Given the description of an element on the screen output the (x, y) to click on. 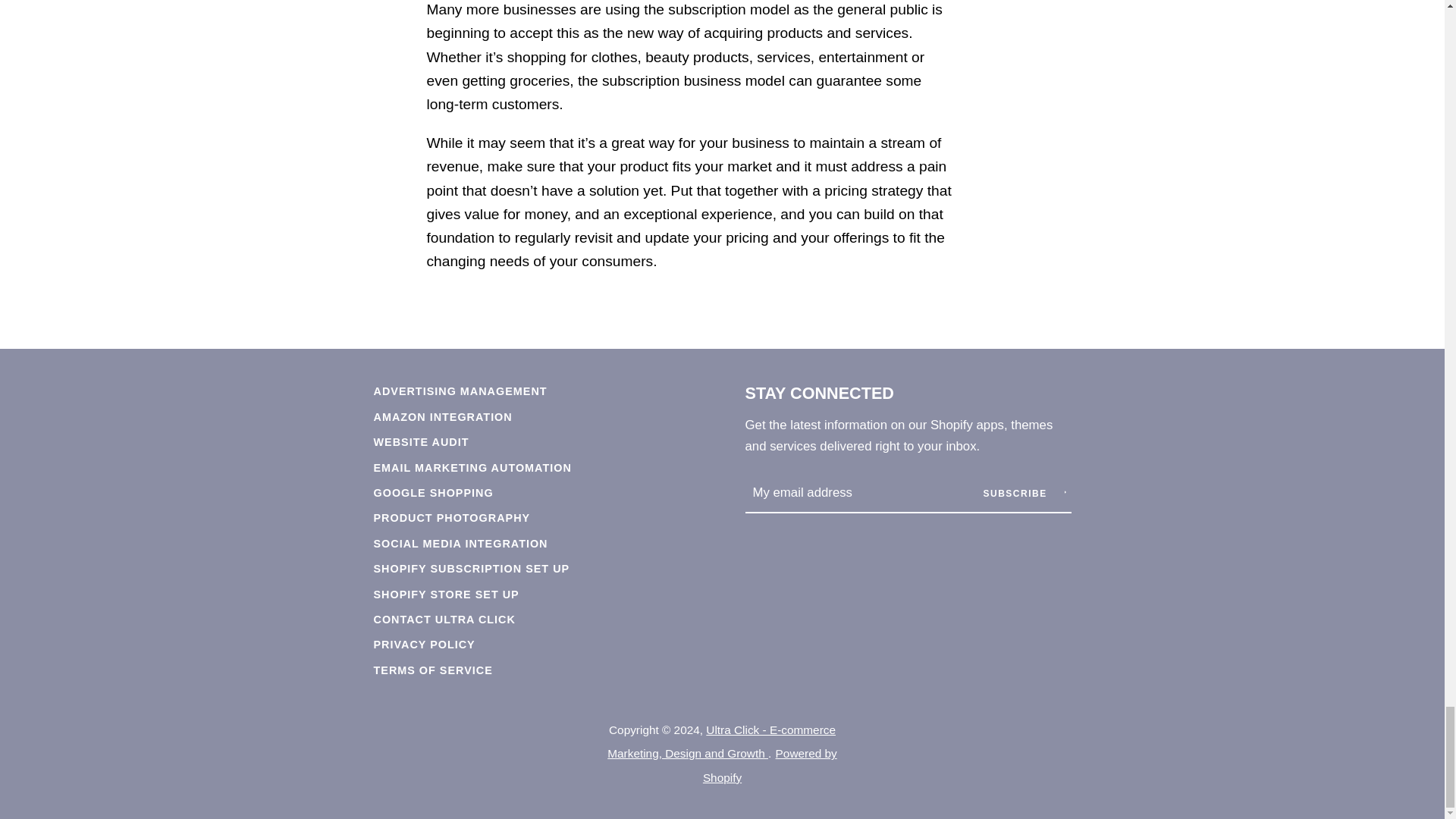
CONTACT ULTRA CLICK (443, 619)
SUBSCRIBE (1023, 493)
GOOGLE SHOPPING (432, 492)
PRODUCT PHOTOGRAPHY (450, 517)
EMAIL MARKETING AUTOMATION (471, 467)
Powered by Shopify (770, 764)
SHOPIFY STORE SET UP (445, 594)
PRIVACY POLICY (423, 644)
SOCIAL MEDIA INTEGRATION (459, 543)
AMAZON INTEGRATION (442, 417)
ADVERTISING MANAGEMENT (459, 390)
SHOPIFY SUBSCRIPTION SET UP (470, 568)
Ultra Click - E-commerce Marketing, Design and Growth (721, 741)
WEBSITE AUDIT (420, 441)
TERMS OF SERVICE (432, 670)
